Given the description of an element on the screen output the (x, y) to click on. 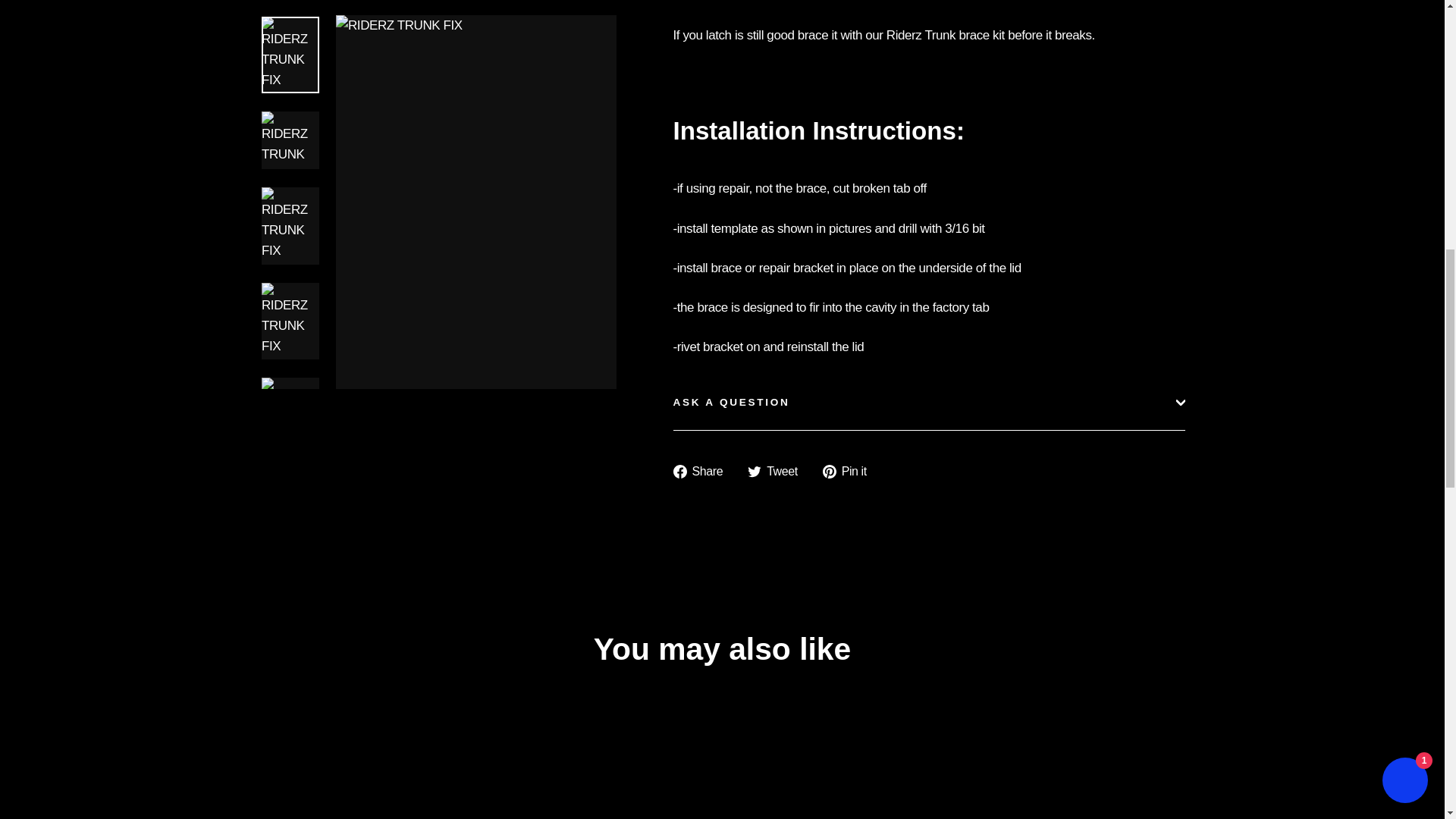
Tweet on Twitter (778, 471)
Pin on Pinterest (849, 471)
Share on Facebook (703, 471)
